Given the description of an element on the screen output the (x, y) to click on. 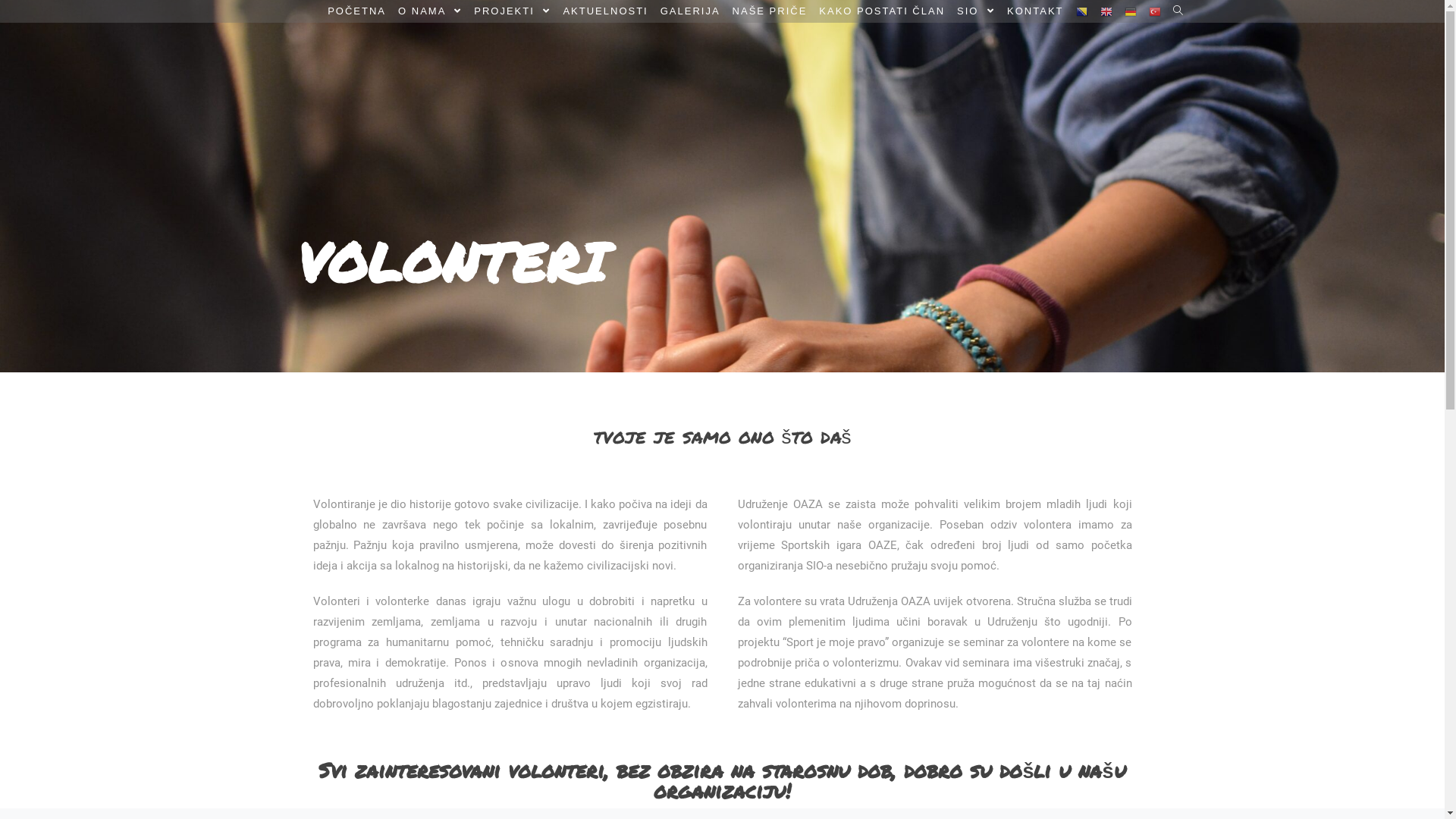
German Element type: hover (1129, 11)
Bosnian Element type: hover (1081, 11)
O NAMA Element type: text (429, 11)
English Element type: hover (1105, 11)
Turkish Element type: hover (1154, 11)
AKTUELNOSTI Element type: text (604, 11)
SIO Element type: text (975, 11)
PROJEKTI Element type: text (511, 11)
GALERIJA Element type: text (690, 11)
KONTAKT Element type: text (1035, 11)
